Given the description of an element on the screen output the (x, y) to click on. 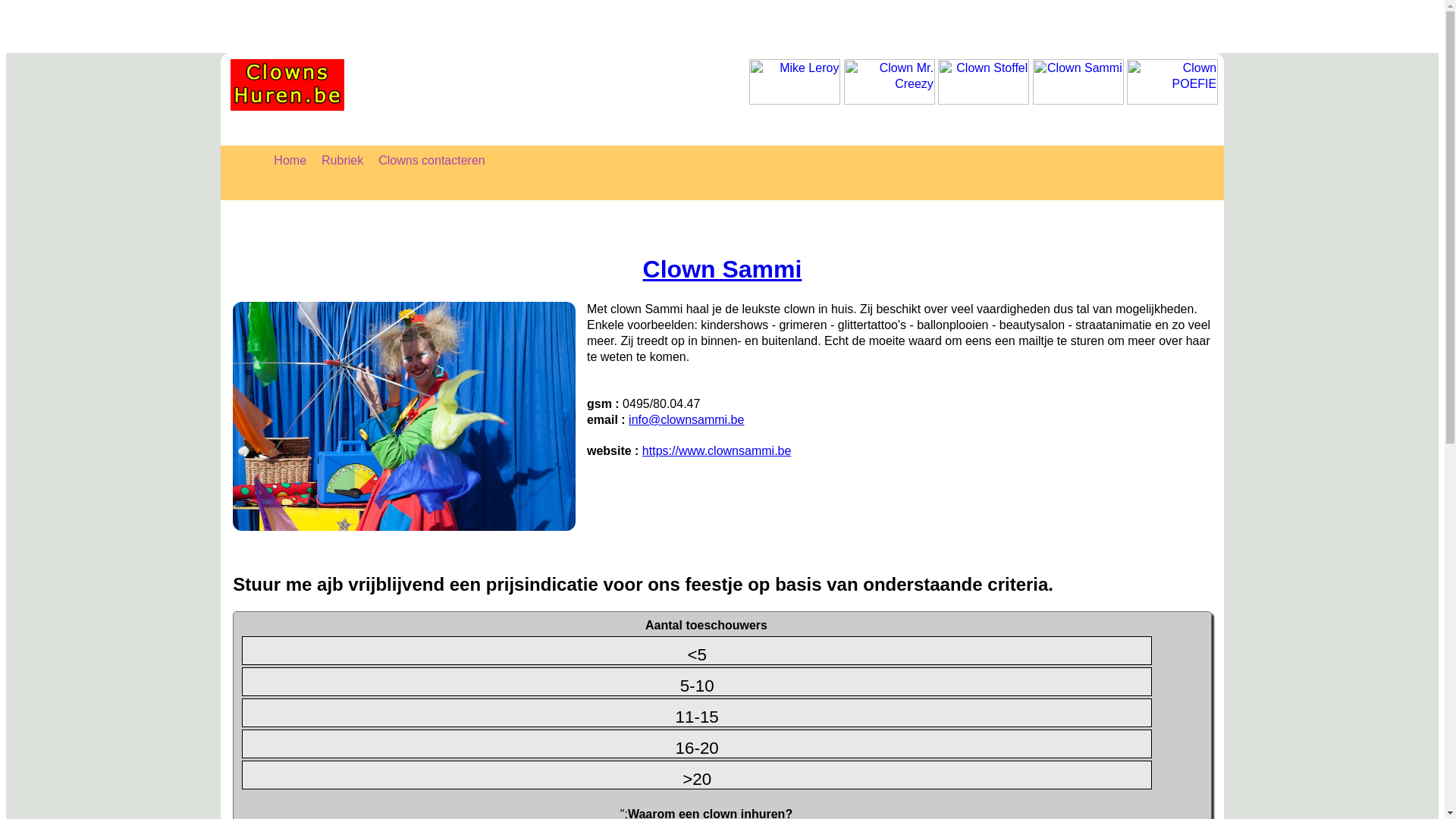
Clown Sammi Element type: hover (1077, 81)
Clown Stoffel Element type: hover (983, 81)
Home Element type: text (289, 159)
Clowns contacteren Element type: text (431, 159)
Clown POEFIE Element type: hover (1171, 81)
Mike Leroy Element type: hover (794, 81)
https://www.clownsammi.be Element type: text (716, 450)
info@clownsammi.be Element type: text (685, 419)
Clown Sammi Element type: hover (403, 415)
Clown Mr. Creezy Element type: hover (889, 81)
Clown Sammi Element type: text (722, 268)
Rubriek Element type: text (342, 159)
